Given the description of an element on the screen output the (x, y) to click on. 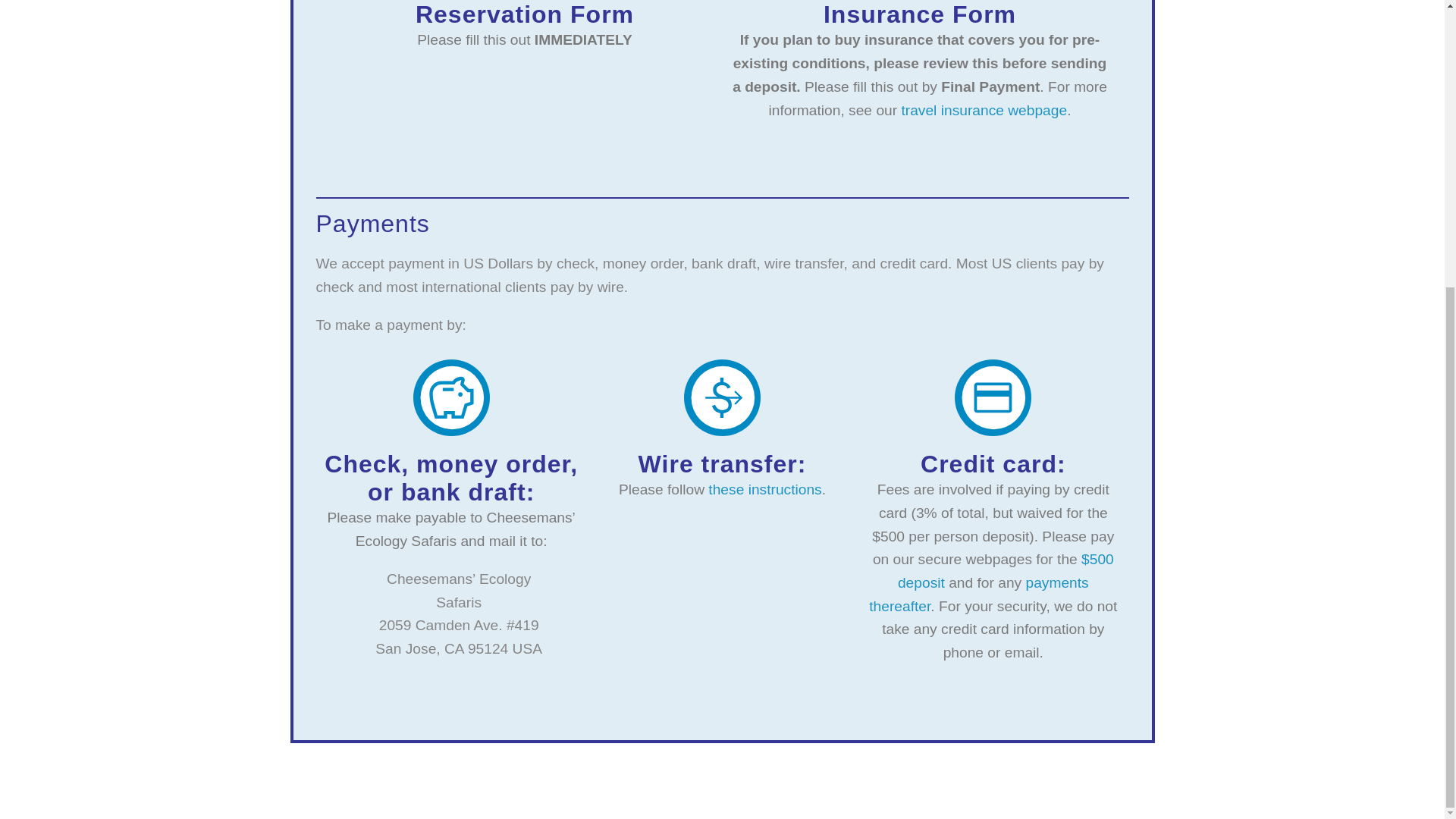
these instructions (764, 489)
Insurance Form (920, 13)
travel insurance webpage (984, 109)
Reservation Form (523, 13)
Wire transfer: (722, 463)
payments thereafter (978, 594)
